Given the description of an element on the screen output the (x, y) to click on. 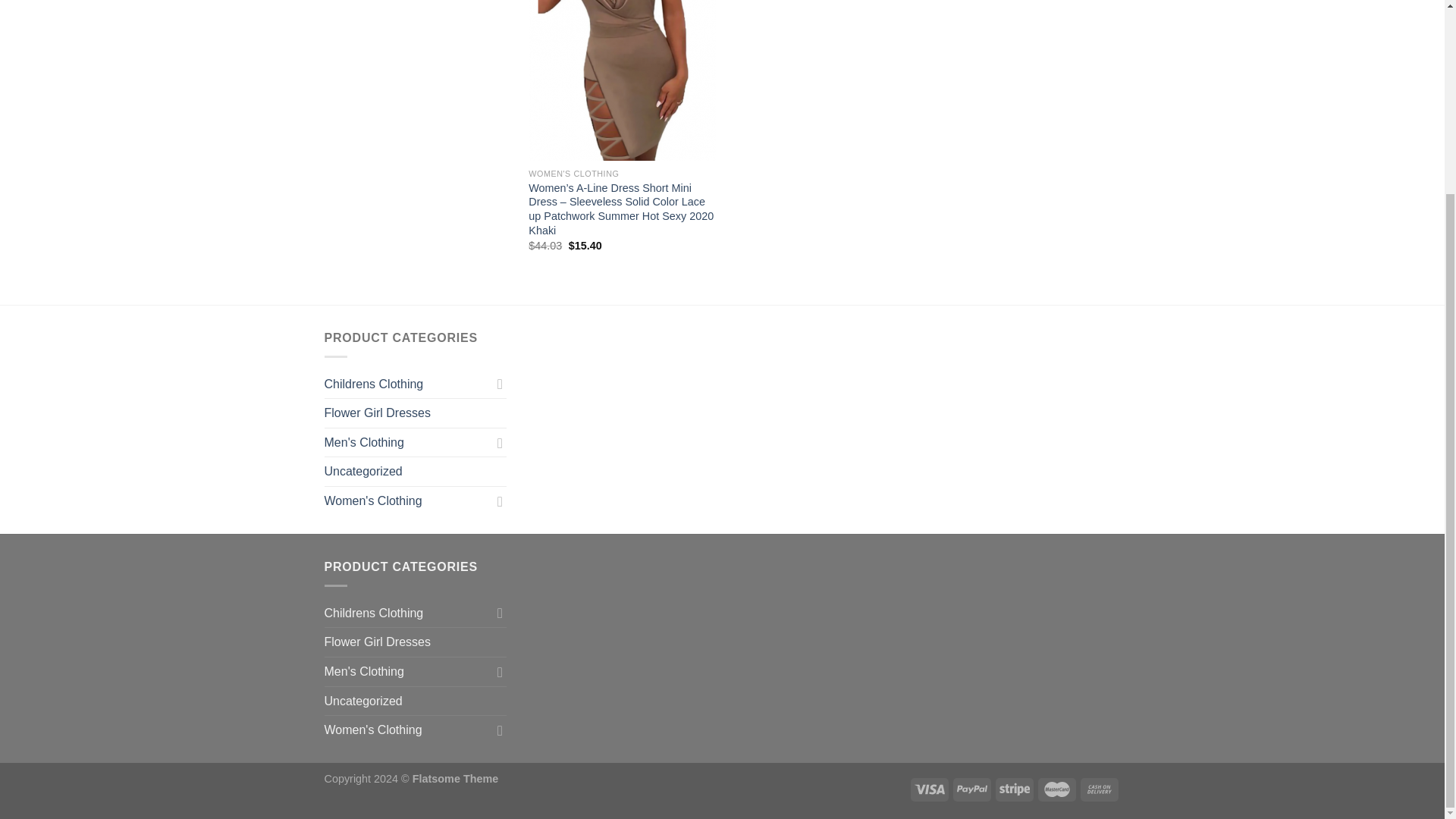
Women's Clothing (407, 500)
Childrens Clothing (407, 384)
Men's Clothing (407, 442)
Flower Girl Dresses (415, 412)
Uncategorized (415, 471)
